Given the description of an element on the screen output the (x, y) to click on. 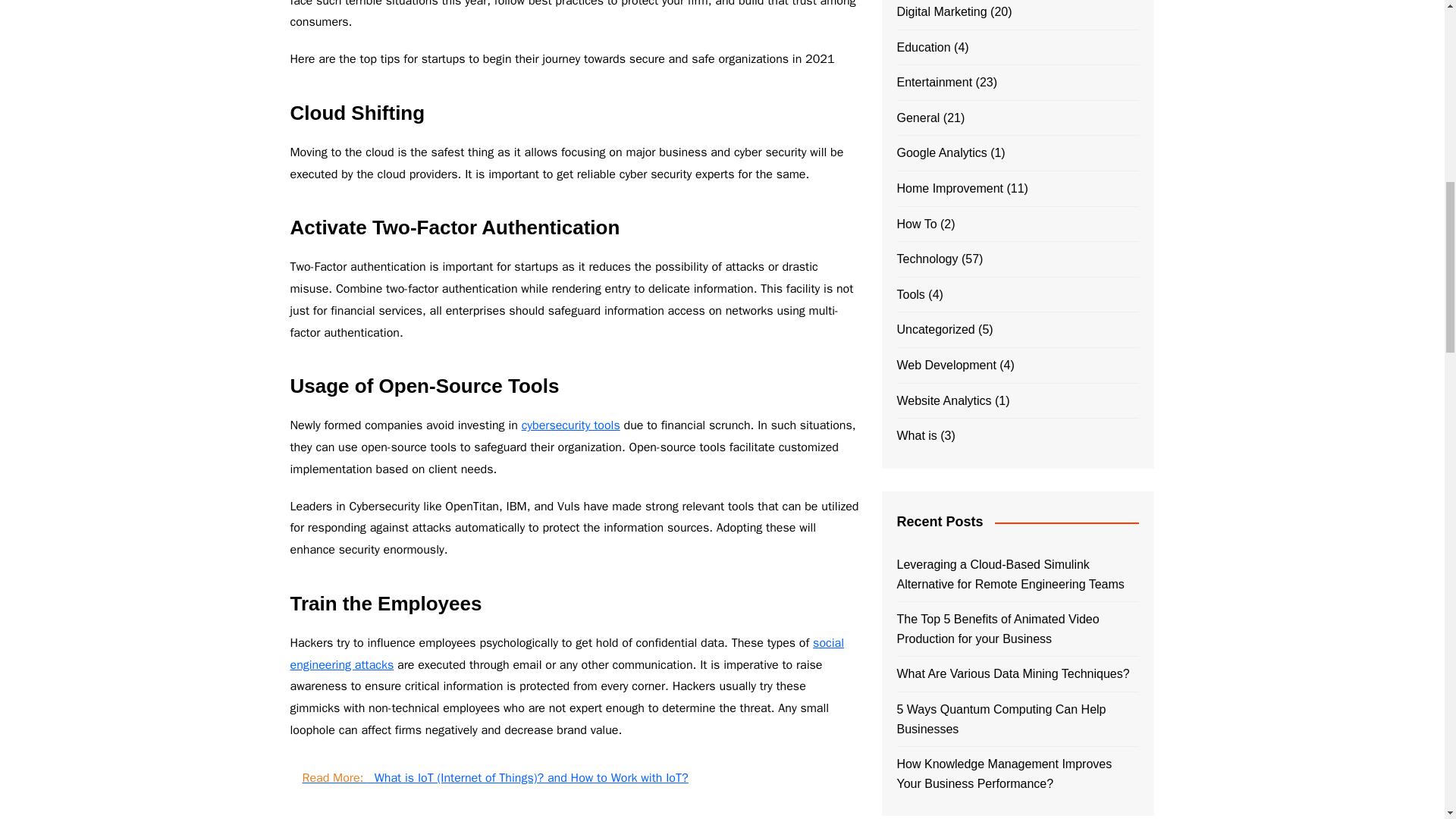
social engineering attacks (566, 653)
cybersecurity tools (570, 425)
